Given the description of an element on the screen output the (x, y) to click on. 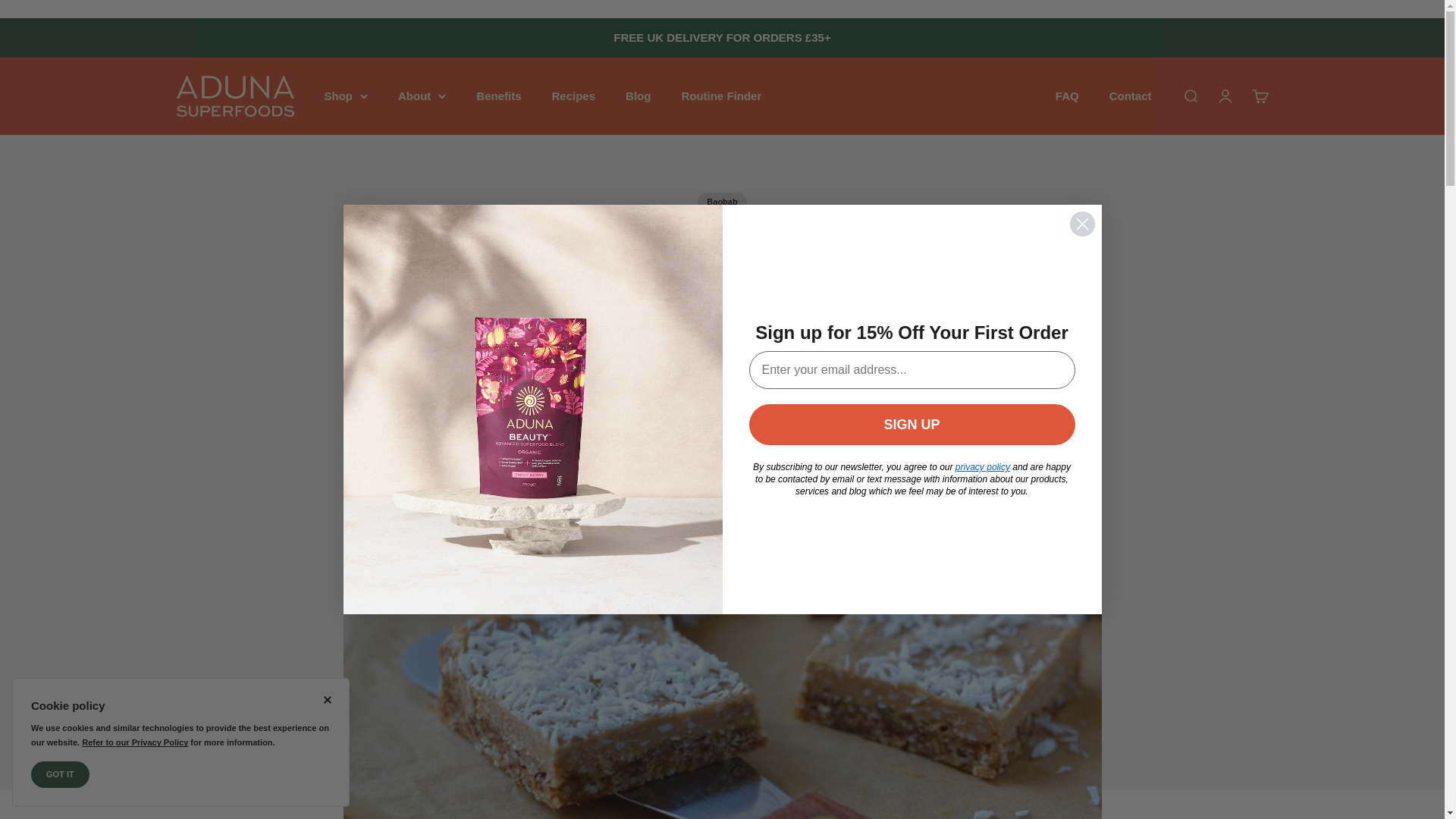
Aduna (235, 96)
Privacy Policy (134, 741)
Benefits (498, 95)
Recipes (573, 95)
FAQ (1066, 95)
Open account page (1224, 95)
Routine Finder (721, 95)
Contact (1130, 95)
Blog (638, 95)
Open search (1189, 95)
